Given the description of an element on the screen output the (x, y) to click on. 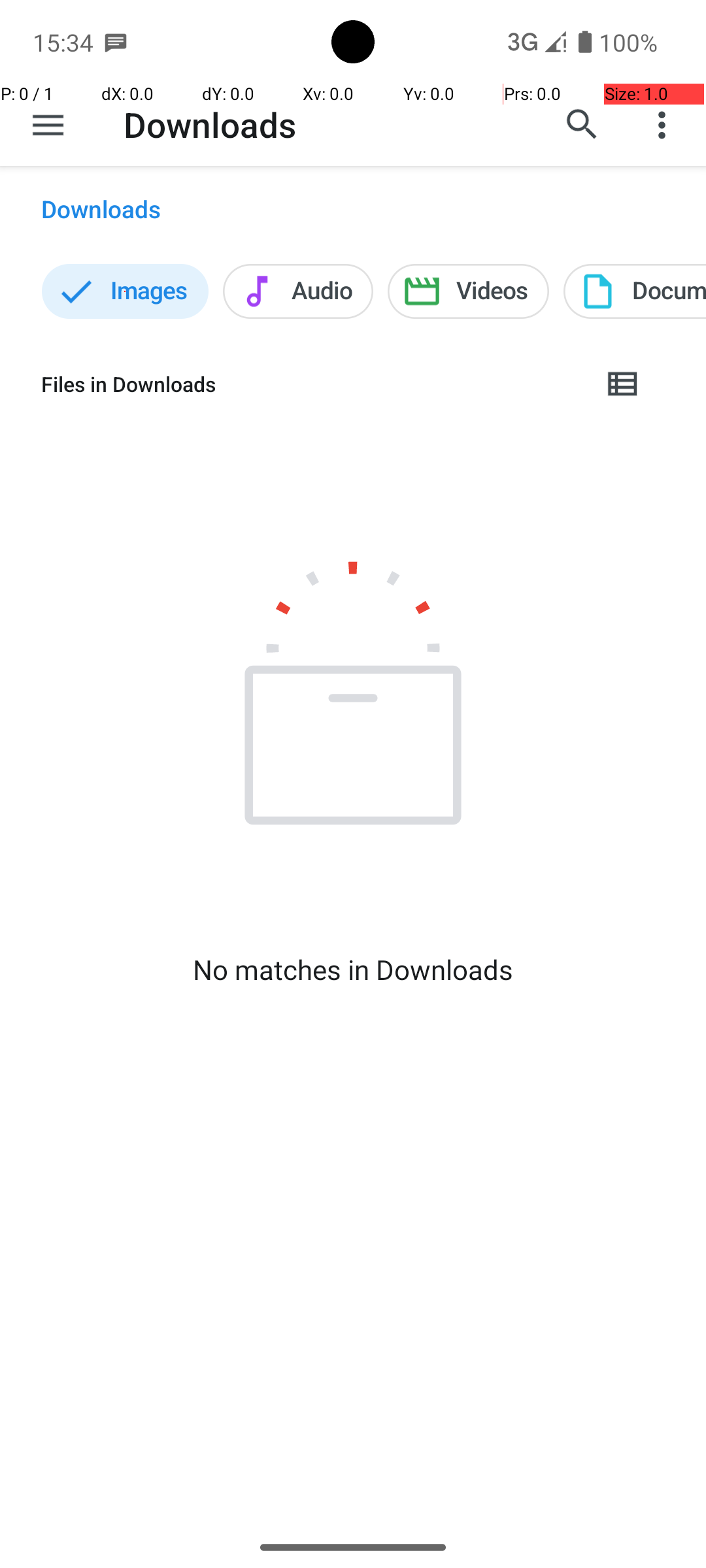
Downloads Element type: android.widget.TextView (209, 124)
Files in Downloads Element type: android.widget.TextView (311, 383)
No matches in Downloads Element type: android.widget.TextView (352, 968)
SMS Messenger notification: +12845986552 Element type: android.widget.ImageView (115, 41)
